Given the description of an element on the screen output the (x, y) to click on. 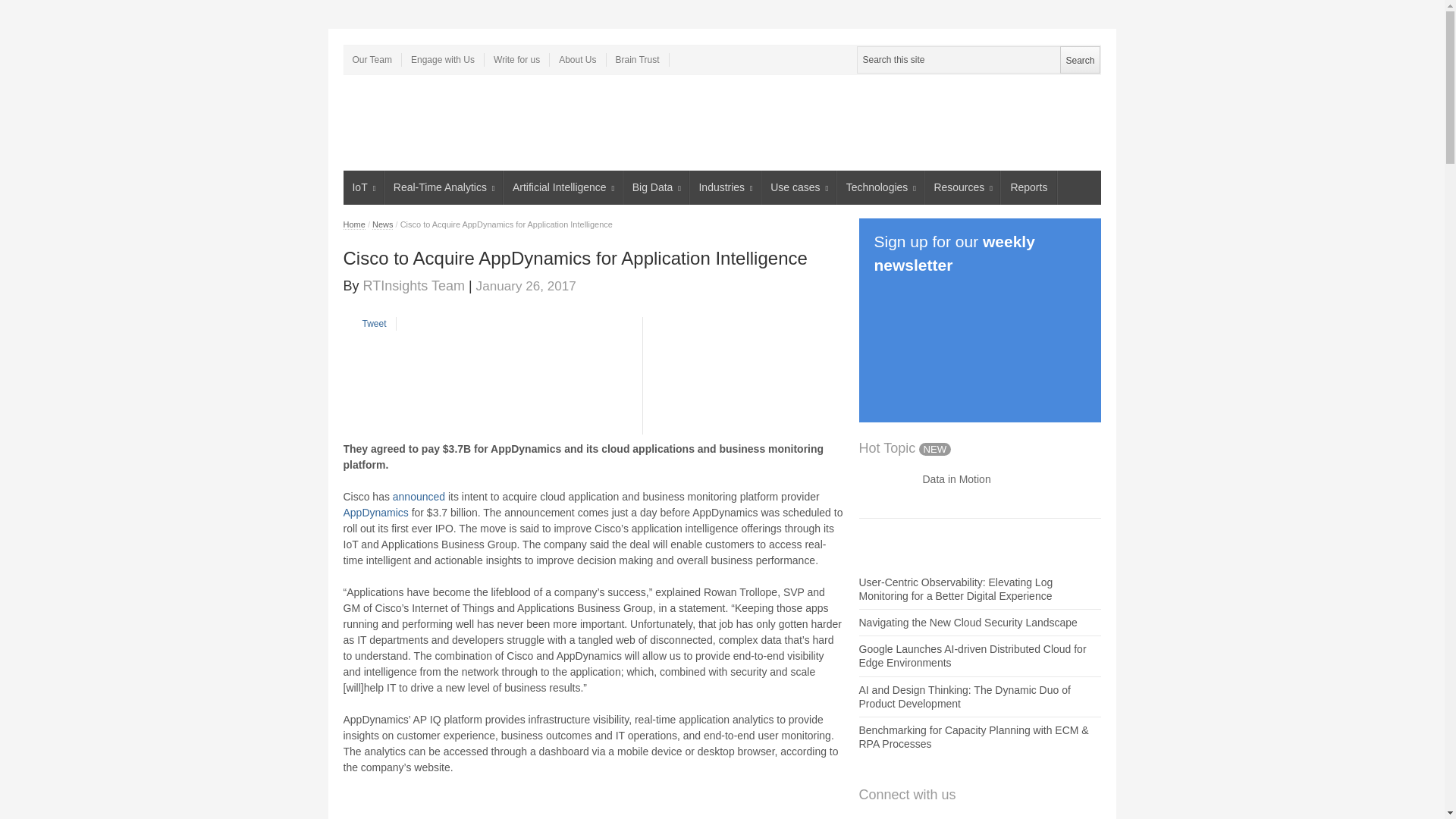
Search (1079, 59)
Search (1079, 59)
View all posts by RTInsights Team (413, 285)
Our Team (371, 59)
Search this site (978, 59)
3:33 pm (526, 285)
Write for us (517, 59)
Engage with Us (442, 59)
Big Data (655, 187)
Industries (725, 187)
